Given the description of an element on the screen output the (x, y) to click on. 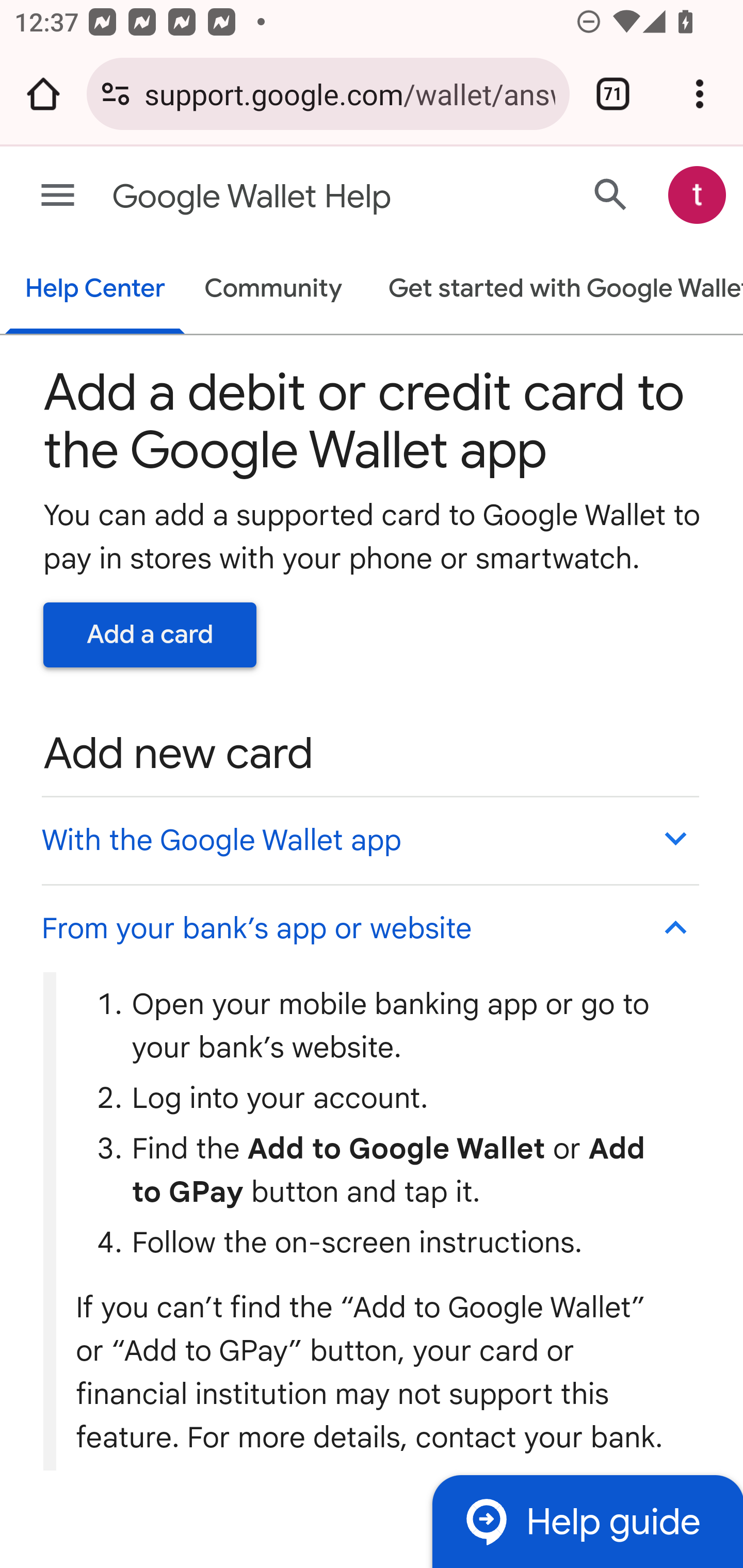
Open the home page (43, 93)
Connection is secure (115, 93)
Switch or close tabs (612, 93)
Customize and control Google Chrome (699, 93)
Main menu (58, 195)
Google Wallet Help (292, 197)
Search Help Center (611, 194)
Help Center (94, 289)
Community (273, 289)
Get started with Google Wallet (555, 289)
Add a card (150, 633)
With the Google Wallet app (369, 839)
From your bank’s app or website (369, 927)
Help guide (587, 1520)
